Given the description of an element on the screen output the (x, y) to click on. 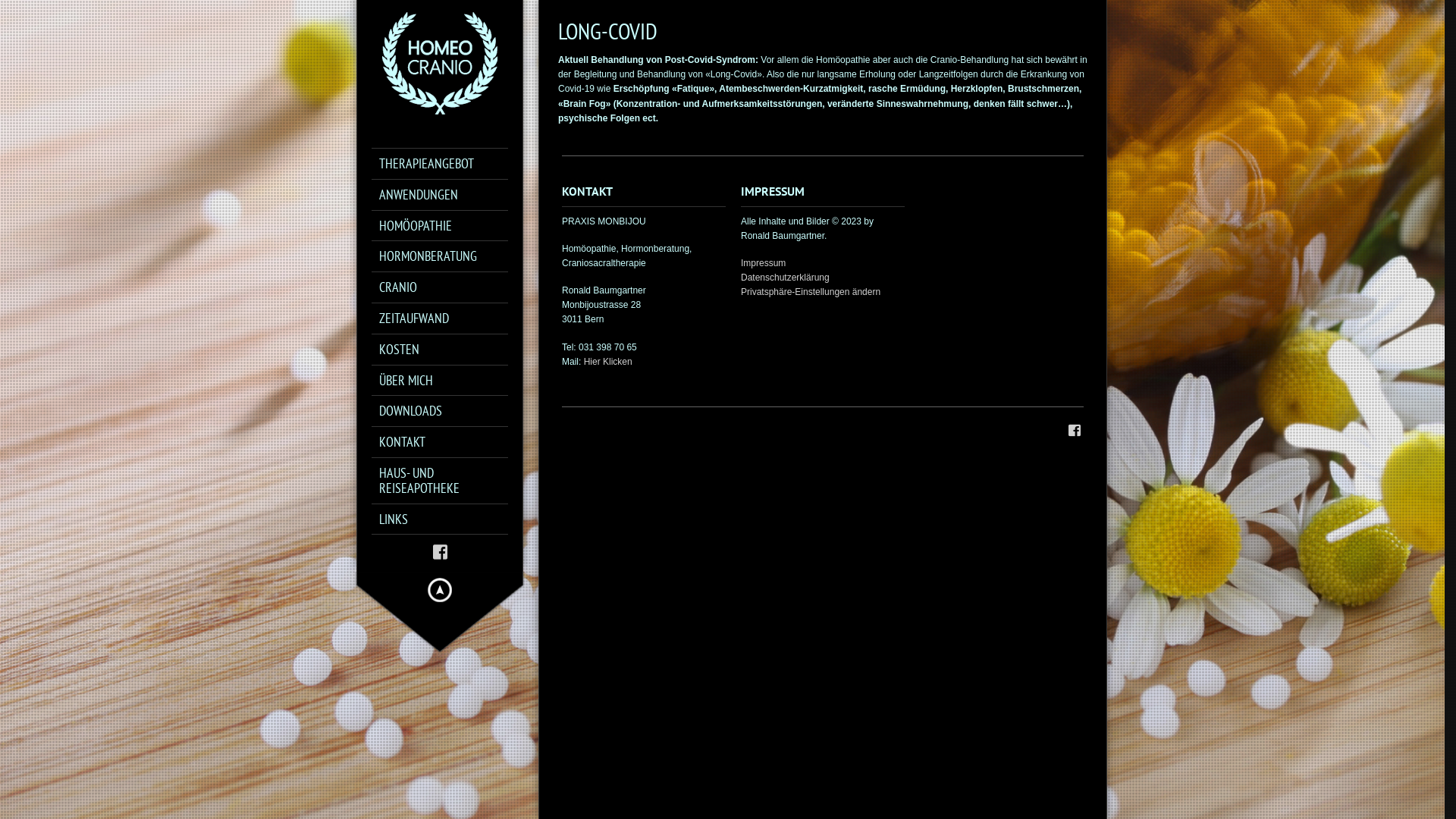
Hier Klicken Element type: text (607, 361)
ANWENDUNGEN Element type: text (447, 194)
KOSTEN Element type: text (447, 349)
Facebook Element type: hover (1074, 430)
THERAPIEANGEBOT Element type: text (447, 163)
DOWNLOADS Element type: text (447, 410)
KONTAKT Element type: text (447, 441)
Impressum Element type: text (762, 262)
ZEITAUFWAND Element type: text (447, 318)
HORMONBERATUNG Element type: text (447, 255)
CRANIO Element type: text (447, 286)
HAUS- UND REISEAPOTHEKE Element type: text (447, 480)
LINKS Element type: text (447, 519)
Facebook Element type: hover (439, 551)
